Given the description of an element on the screen output the (x, y) to click on. 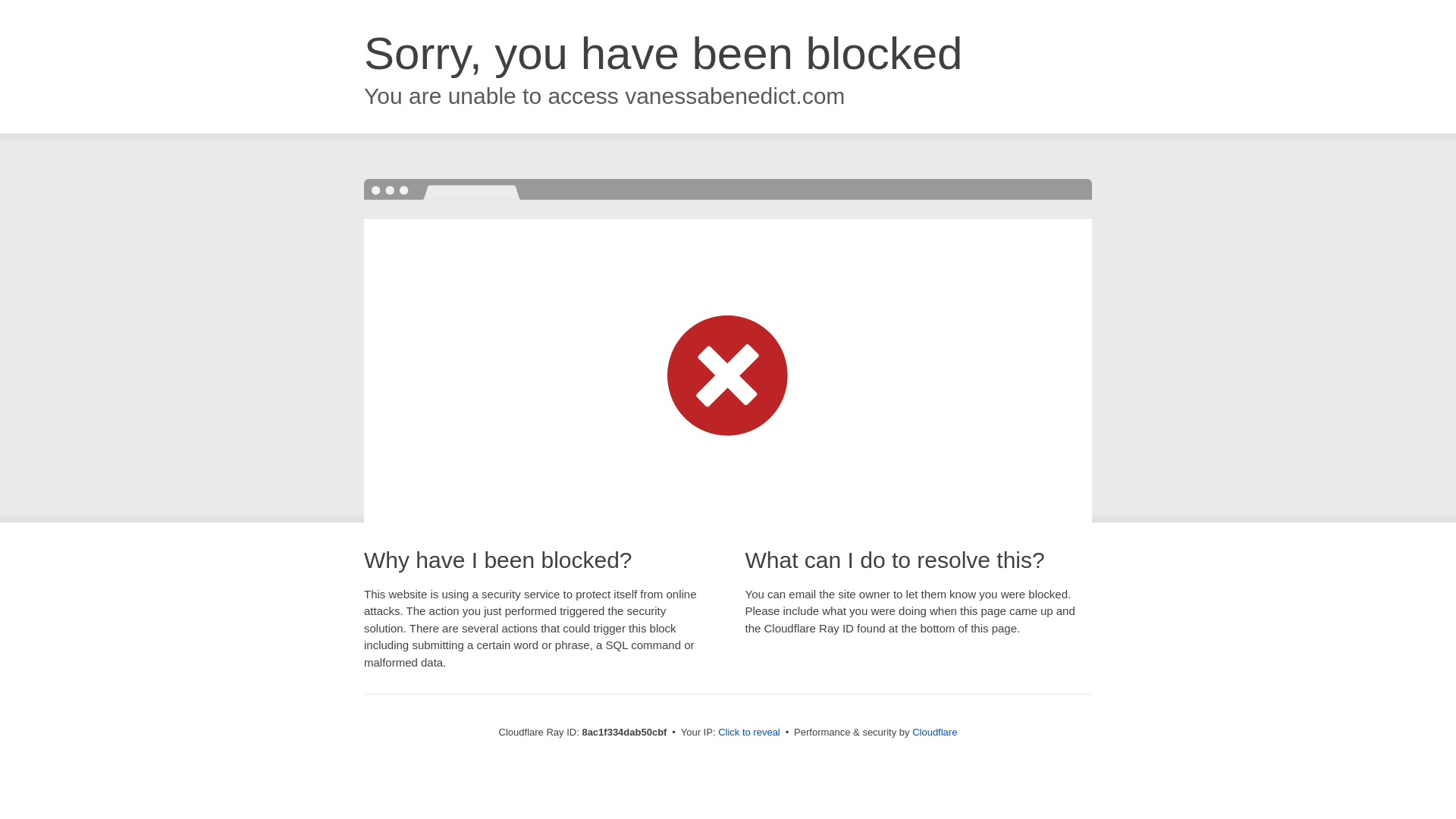
Click to reveal (748, 732)
Cloudflare (934, 731)
